Given the description of an element on the screen output the (x, y) to click on. 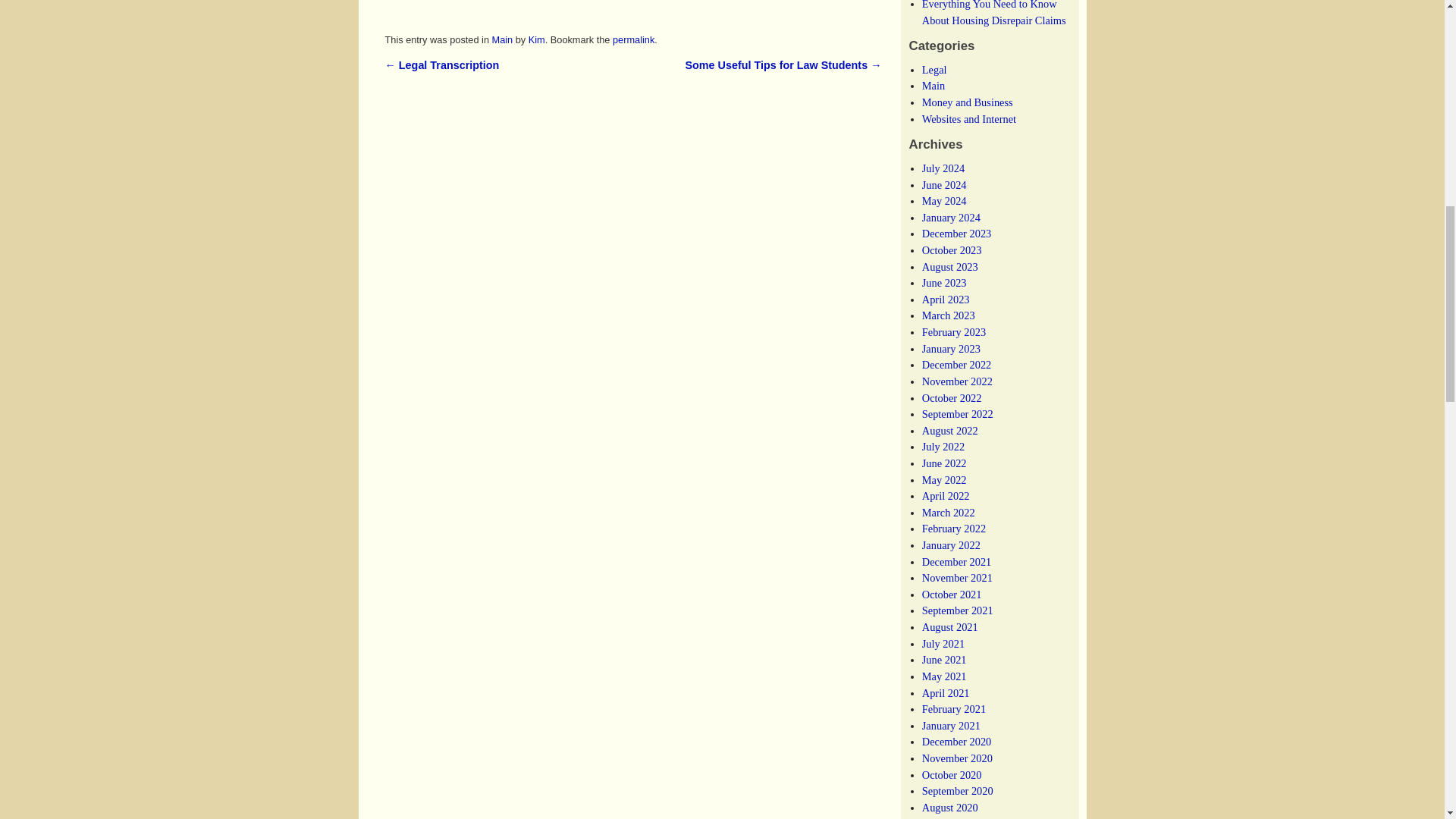
May 2024 (943, 200)
Kim (536, 39)
June 2024 (943, 184)
July 2024 (942, 168)
January 2024 (950, 217)
Everything You Need to Know About Housing Disrepair Claims (993, 13)
Main (502, 39)
Websites and Internet (968, 119)
Money and Business (967, 102)
permalink (632, 39)
Legal (934, 69)
Main (932, 85)
Permalink to Social Security Disability and Depression (632, 39)
December 2023 (956, 233)
